Given the description of an element on the screen output the (x, y) to click on. 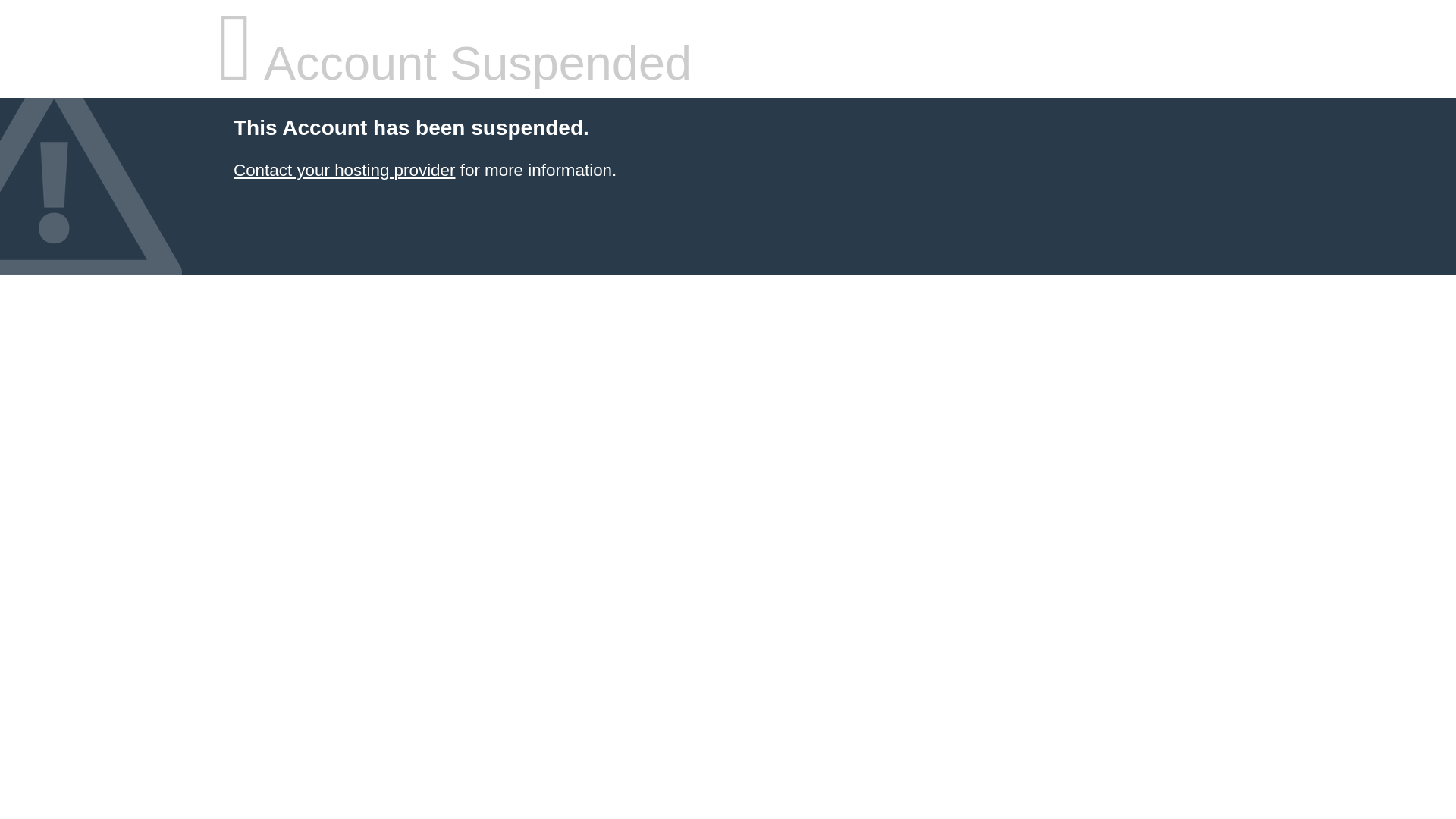
Contact your hosting provider (343, 169)
